Given the description of an element on the screen output the (x, y) to click on. 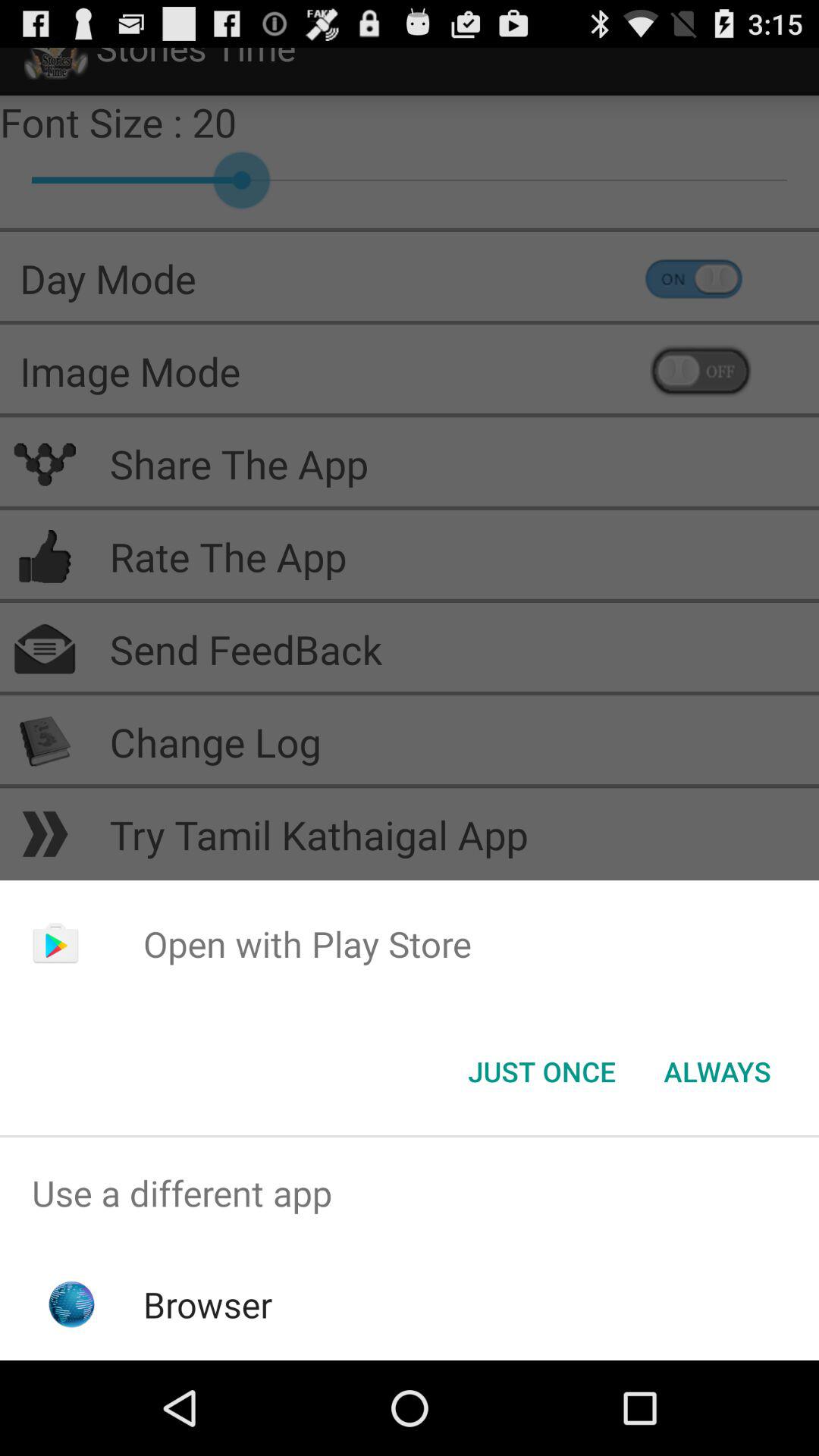
press use a different icon (409, 1192)
